Given the description of an element on the screen output the (x, y) to click on. 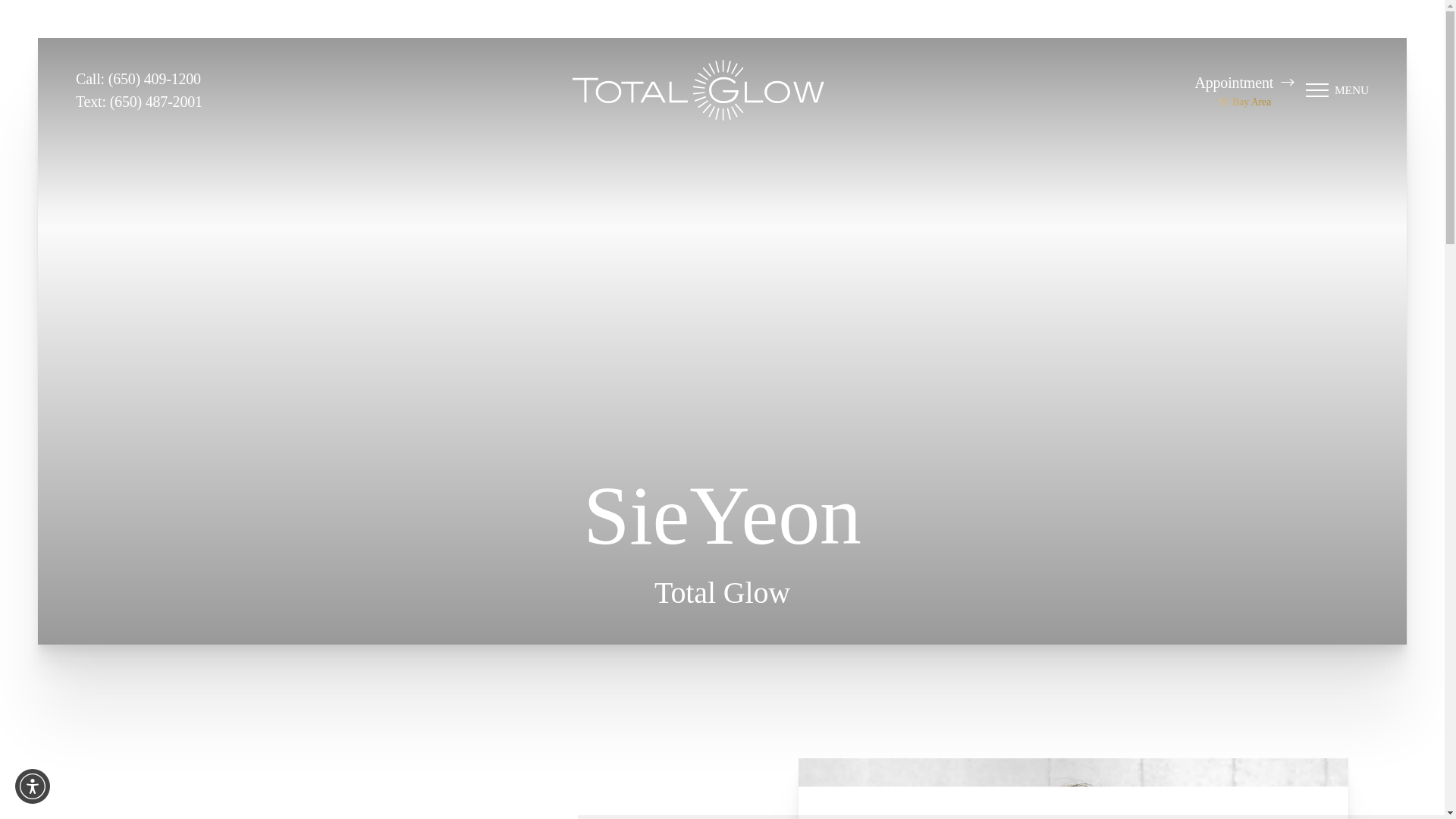
Appointment (1243, 82)
